Given the description of an element on the screen output the (x, y) to click on. 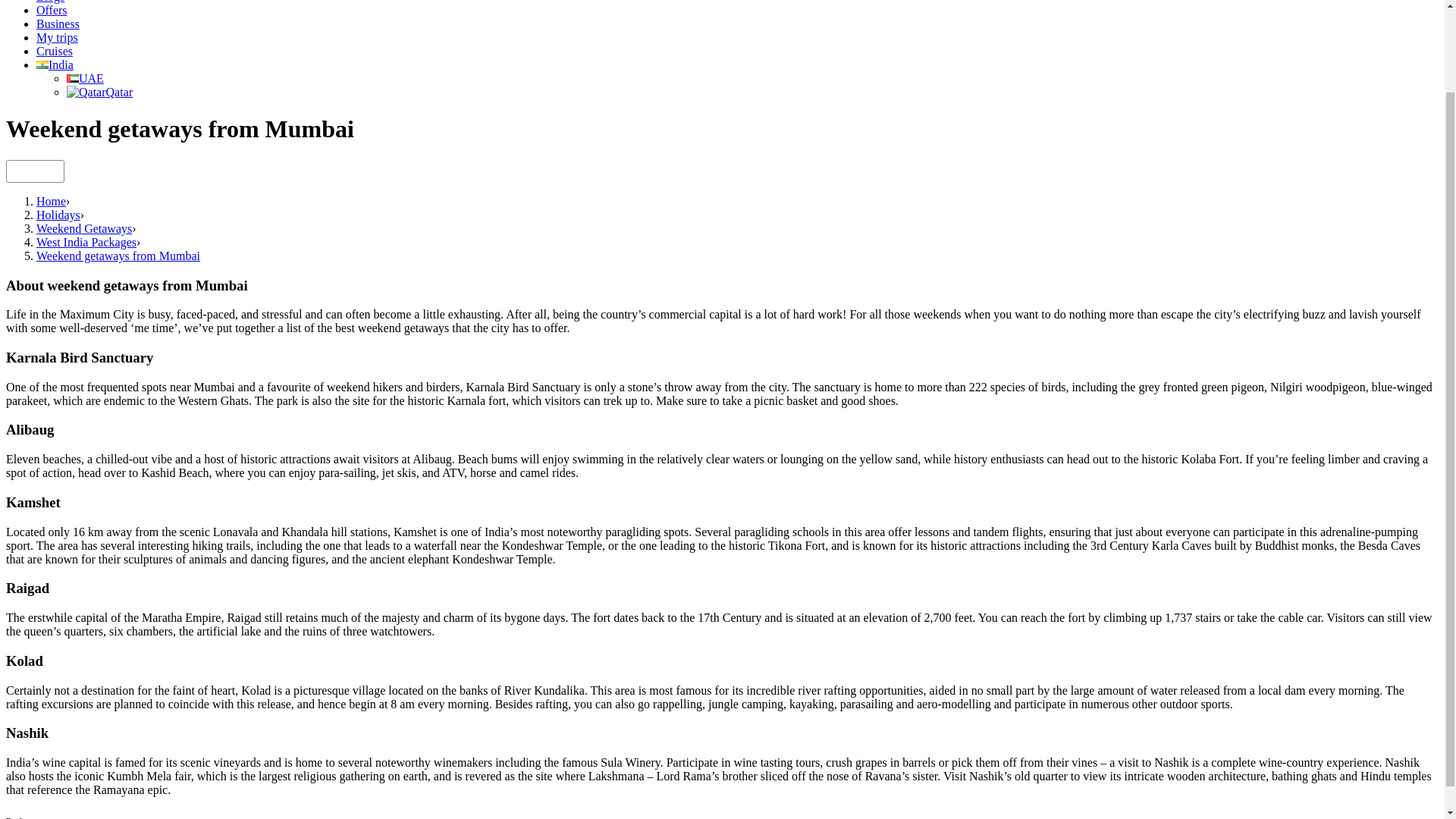
Weekend Getaways (84, 228)
Cruises (54, 51)
West India Packages (86, 241)
UAE (84, 78)
Business (58, 23)
Tweet this (34, 170)
Offers (51, 10)
Share on Facebook (18, 170)
My trips (57, 37)
Weekend getaways from Mumbai (118, 255)
